Given the description of an element on the screen output the (x, y) to click on. 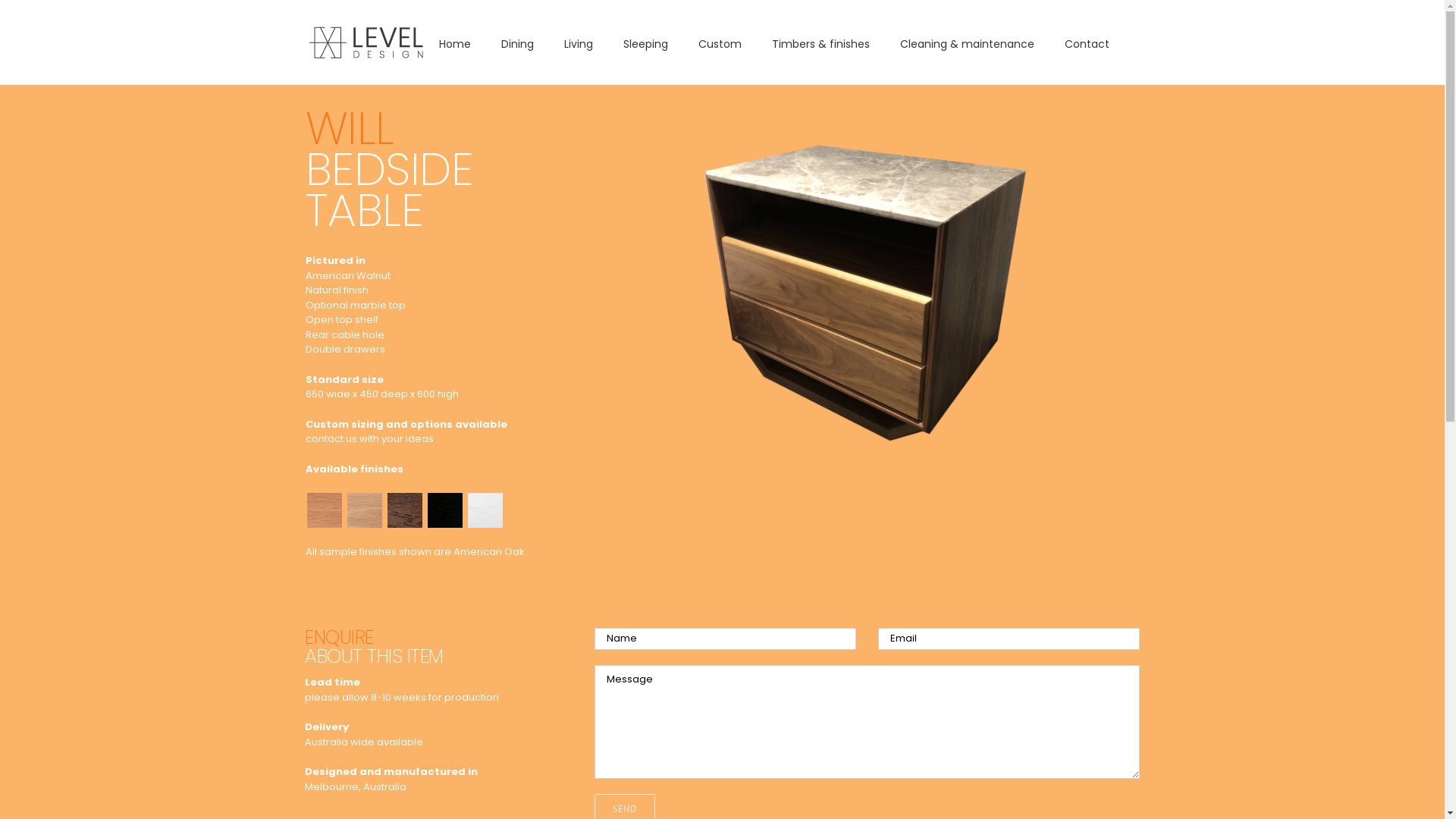
Living Element type: text (578, 42)
Natural Finish Element type: hover (323, 497)
Sleeping Element type: text (645, 42)
Cleaning & maintenance Element type: text (966, 42)
Dining Element type: text (516, 42)
Custom Element type: text (718, 42)
Blackout Finish Element type: hover (444, 497)
Contact Element type: text (1086, 42)
will-bedside-american-walnut-carrara-main Element type: hover (871, 285)
Whiteout Finish Element type: hover (484, 497)
Smoke Finish Element type: hover (403, 497)
Timbers & finishes Element type: text (820, 42)
Home Element type: text (454, 42)
Raw Finish Element type: hover (364, 497)
